Given the description of an element on the screen output the (x, y) to click on. 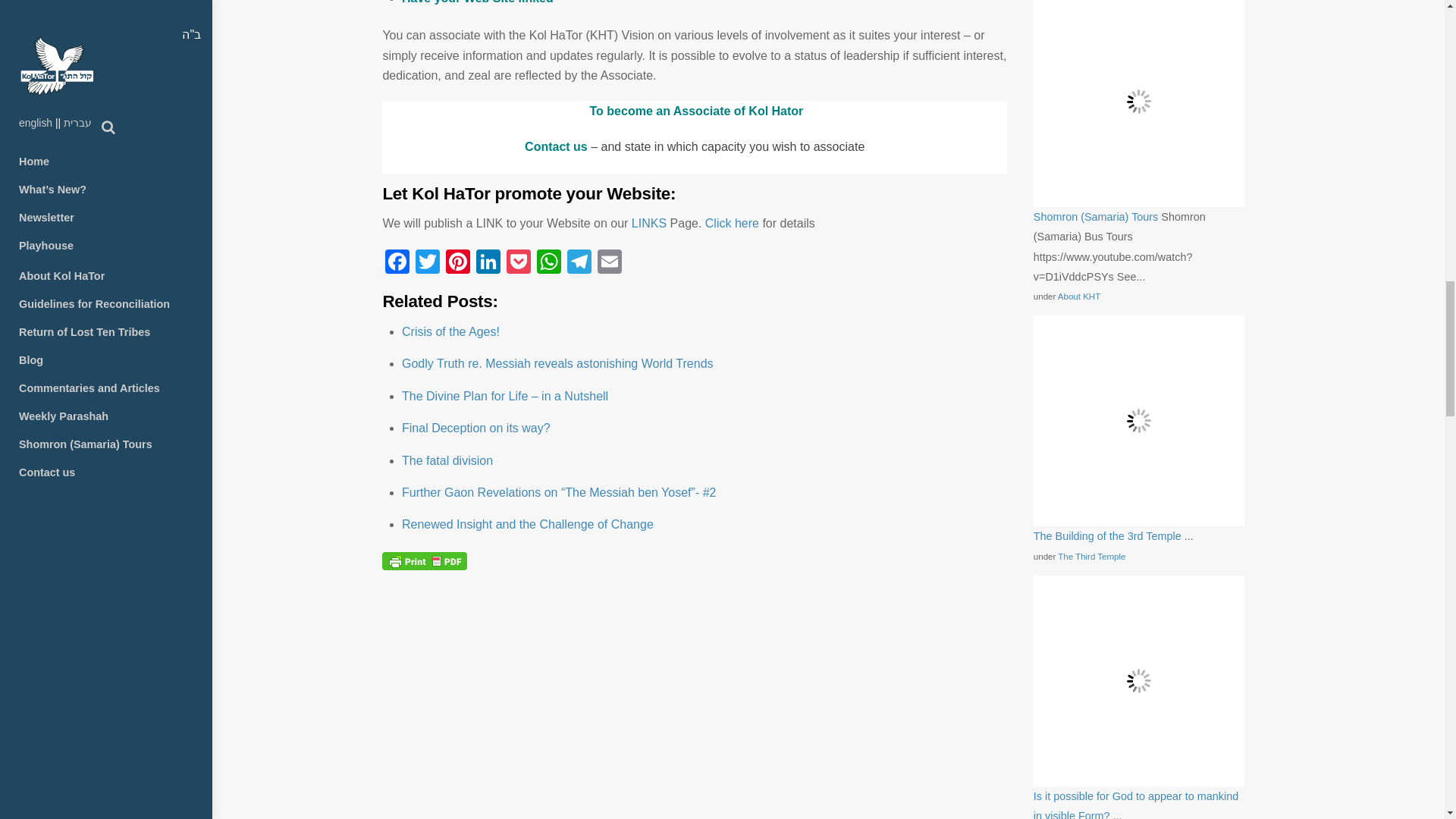
Facebook (396, 263)
Pinterest (457, 263)
Click here (731, 223)
LinkedIn (488, 263)
Twitter (427, 263)
LINKS (648, 223)
Facebook (396, 263)
WhatsApp (549, 263)
Contact us (556, 146)
 To become an Associate of Kol Hator (694, 110)
